Given the description of an element on the screen output the (x, y) to click on. 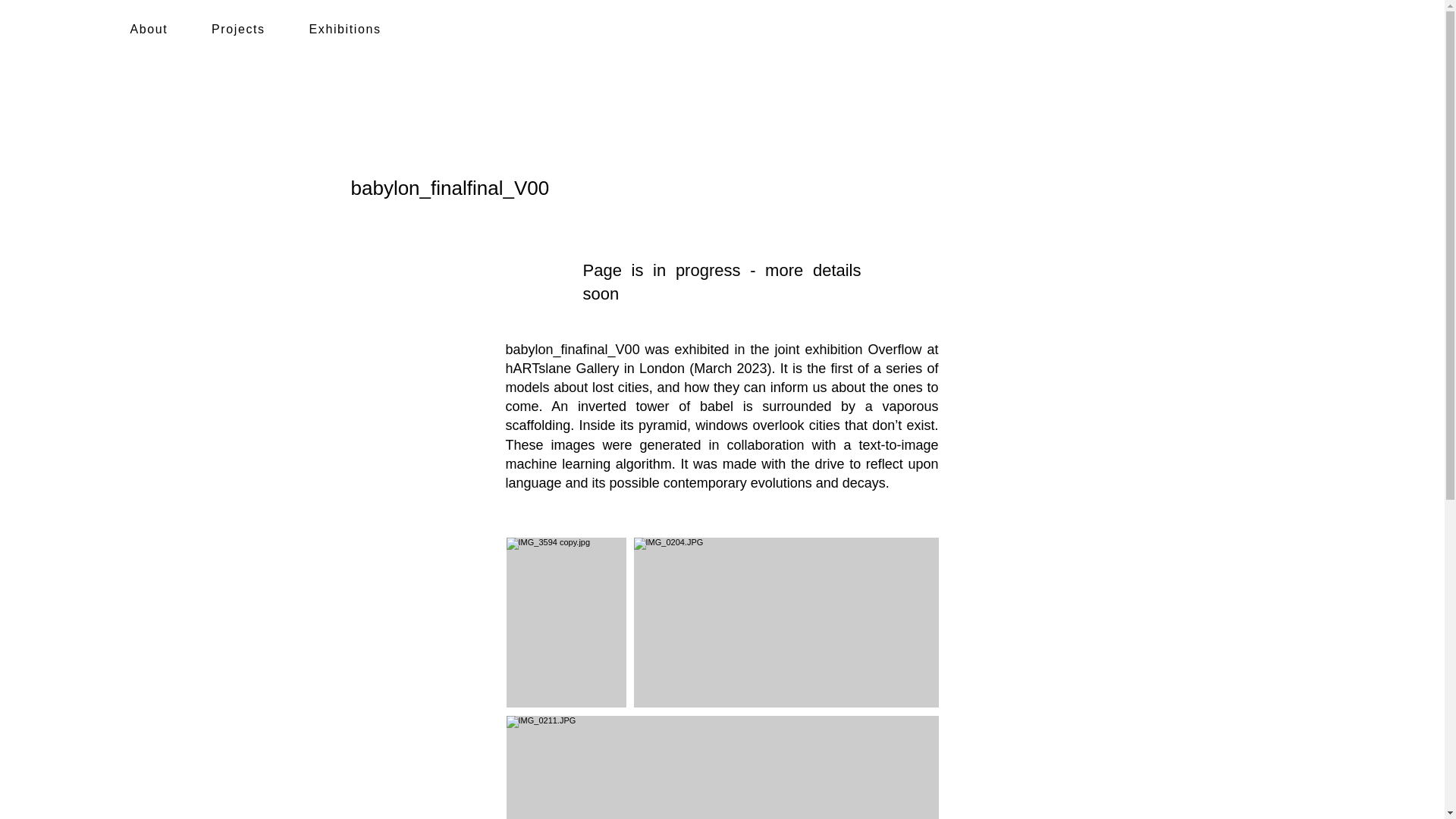
About (148, 30)
Projects (237, 30)
Exhibitions (344, 30)
